Given the description of an element on the screen output the (x, y) to click on. 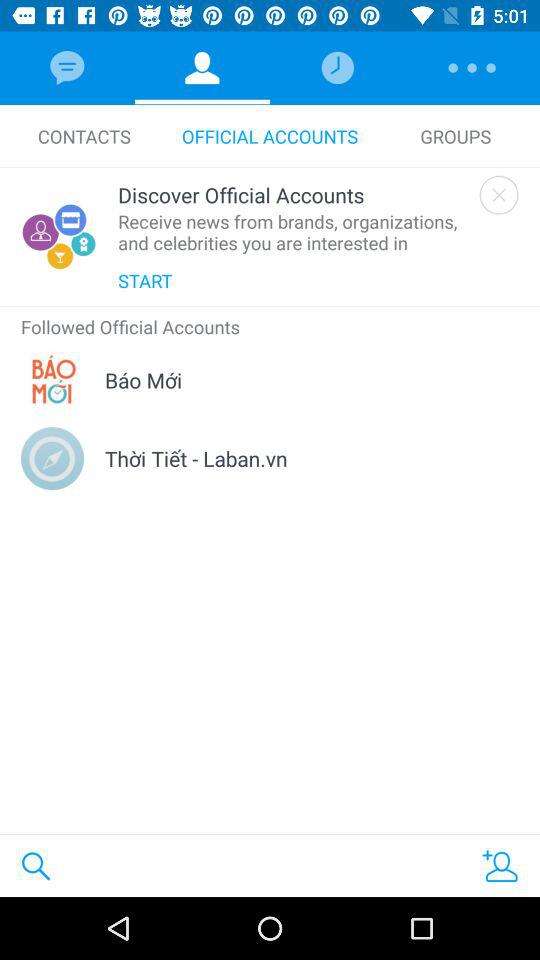
close advertisement (498, 194)
